Given the description of an element on the screen output the (x, y) to click on. 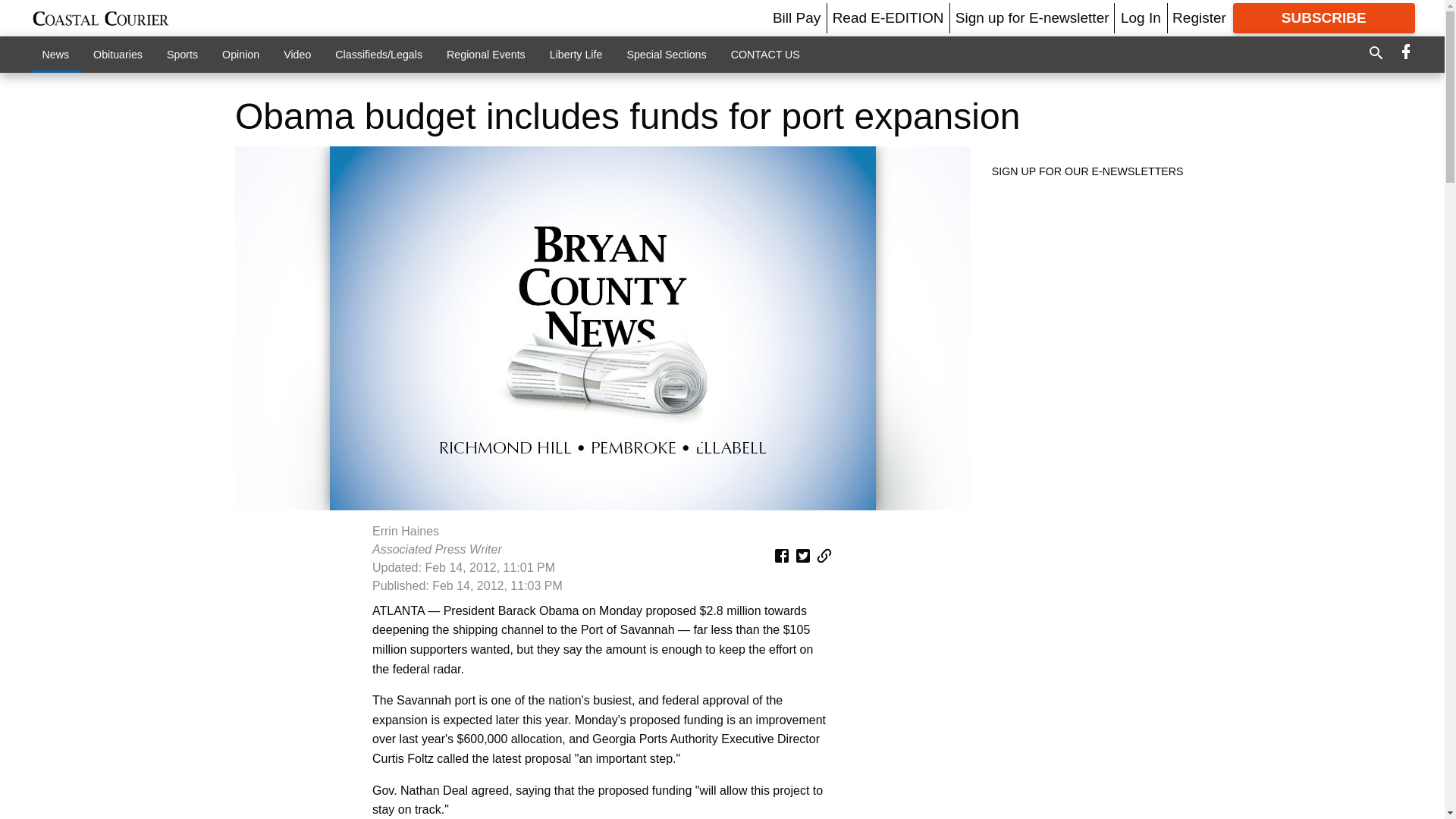
Obituaries (117, 54)
Special Sections (665, 54)
Bill Pay (797, 17)
Opinion (239, 54)
Regional Events (485, 54)
News (55, 54)
Video (296, 54)
Register (1198, 17)
Sports (181, 54)
Signup Widget Embed (1095, 305)
